Given the description of an element on the screen output the (x, y) to click on. 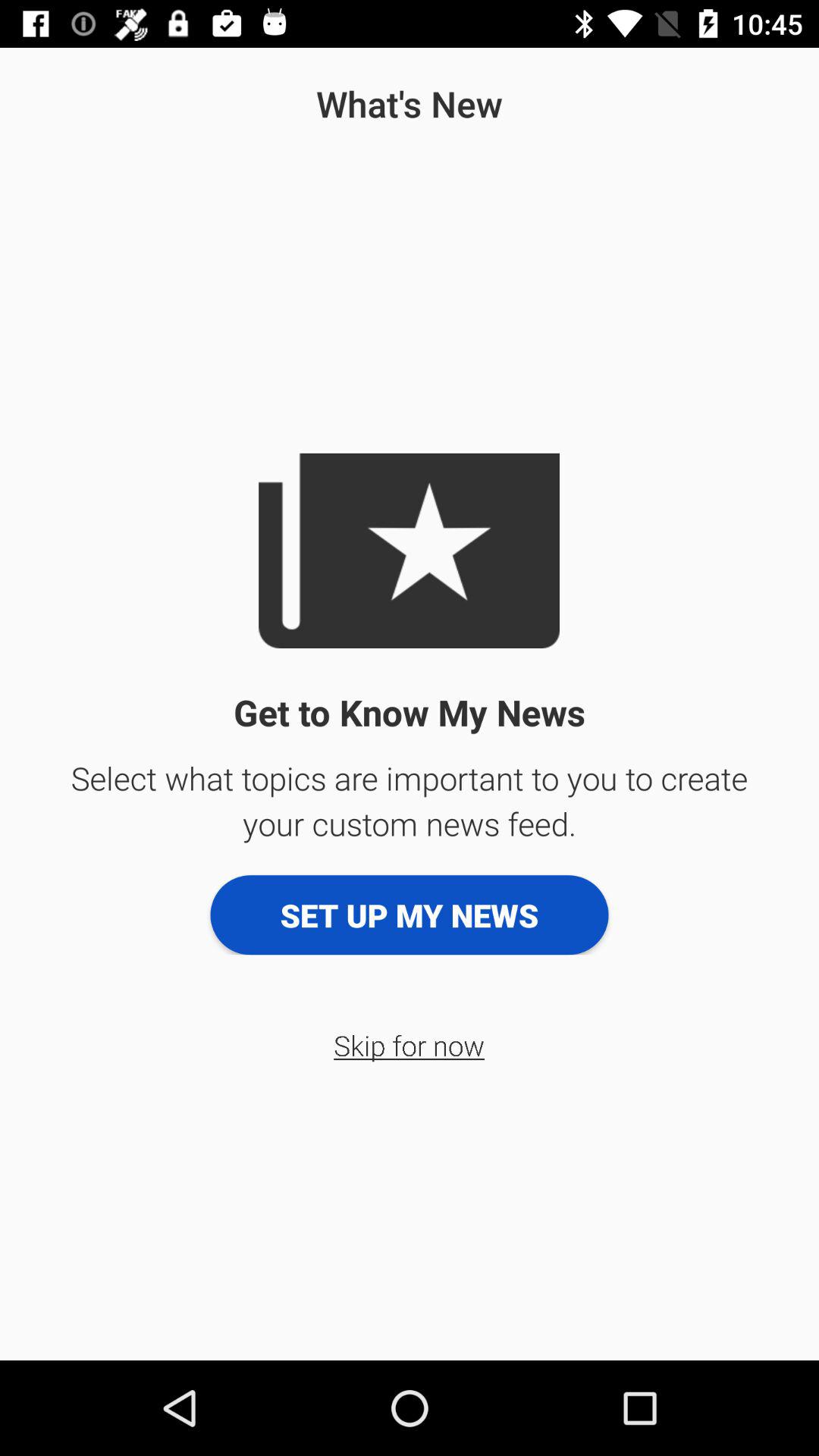
launch the button below set up my item (409, 1044)
